Given the description of an element on the screen output the (x, y) to click on. 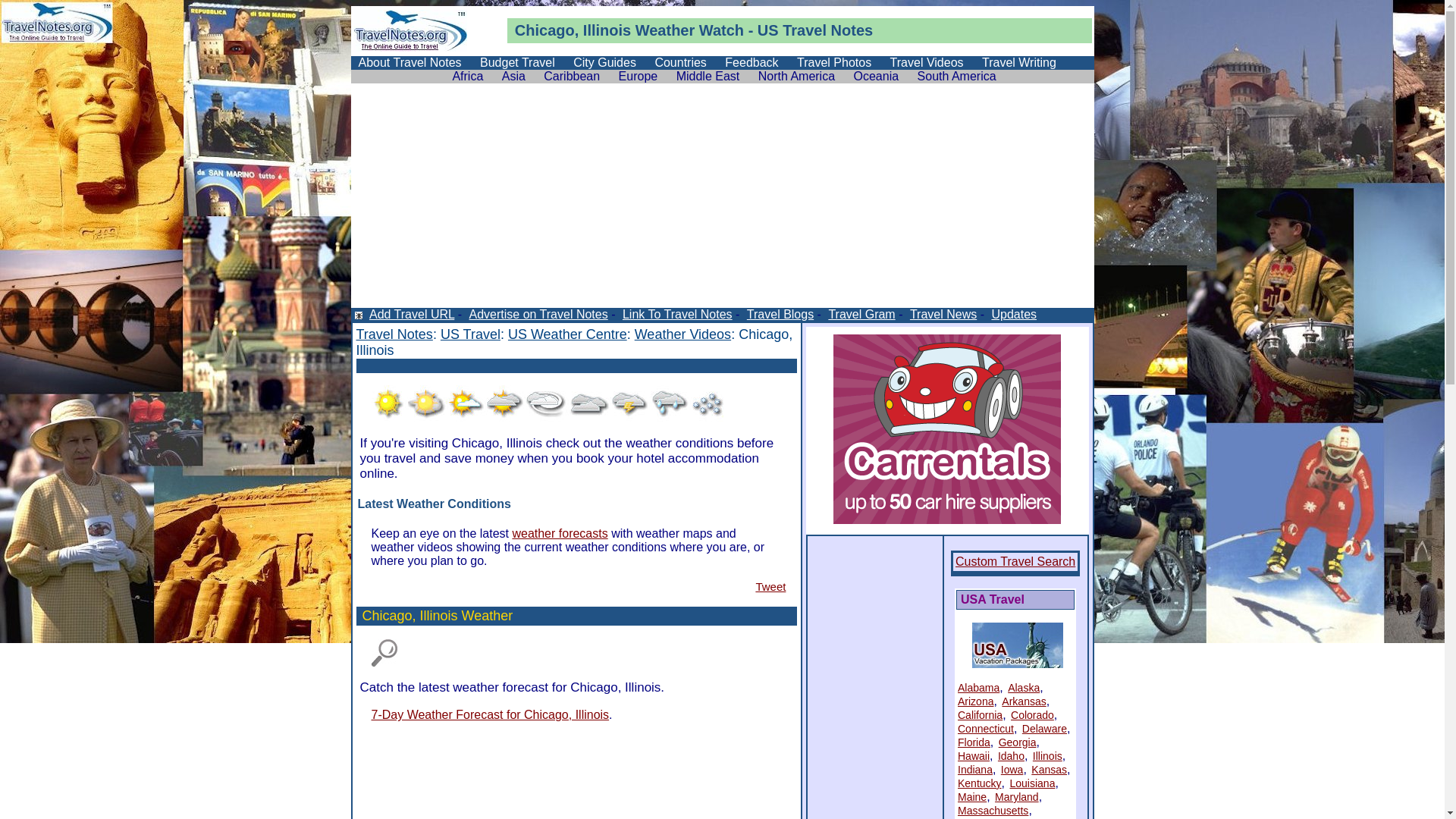
Travel Writing Element type: text (1018, 62)
Advertise on Travel Notes Element type: text (537, 313)
Get to Your Destination Faster with Travel Notes Search Element type: hover (384, 653)
Weather Videos Element type: text (682, 334)
Updates Element type: text (1012, 313)
US Travel Notes Element type: text (814, 29)
Europe Element type: text (638, 75)
Travel News Element type: text (941, 313)
Asia Element type: text (513, 75)
Weather Element type: text (665, 29)
Africa Element type: text (467, 75)
US Weather Centre Element type: text (567, 334)
weather forecasts Element type: text (559, 533)
Countries Element type: text (679, 62)
Oceania Element type: text (876, 75)
Budget Travel Element type: text (517, 62)
Advertisement Element type: hover (533, 364)
North America Element type: text (796, 75)
Add Travel URL Element type: text (410, 313)
Illinois Weather Element type: text (466, 615)
Feedback Element type: text (751, 62)
Travel Photos Element type: text (833, 62)
Travel Blogs Element type: text (778, 313)
Travel Videos Element type: text (926, 62)
7-Day Weather Forecast for Chicago, Illinois Element type: text (490, 714)
Travel Gram Element type: text (859, 313)
City Guides Element type: text (604, 62)
Link To Travel Notes Element type: text (676, 313)
South America Element type: text (957, 75)
Advertisement Element type: hover (721, 201)
US Travel Element type: text (470, 334)
Tweet Element type: text (770, 586)
Caribbean Element type: text (571, 75)
Travel Notes Element type: text (394, 334)
Custom Travel Search Element type: text (1015, 561)
About Travel Notes Element type: text (409, 62)
Middle East Element type: text (707, 75)
